Given the description of an element on the screen output the (x, y) to click on. 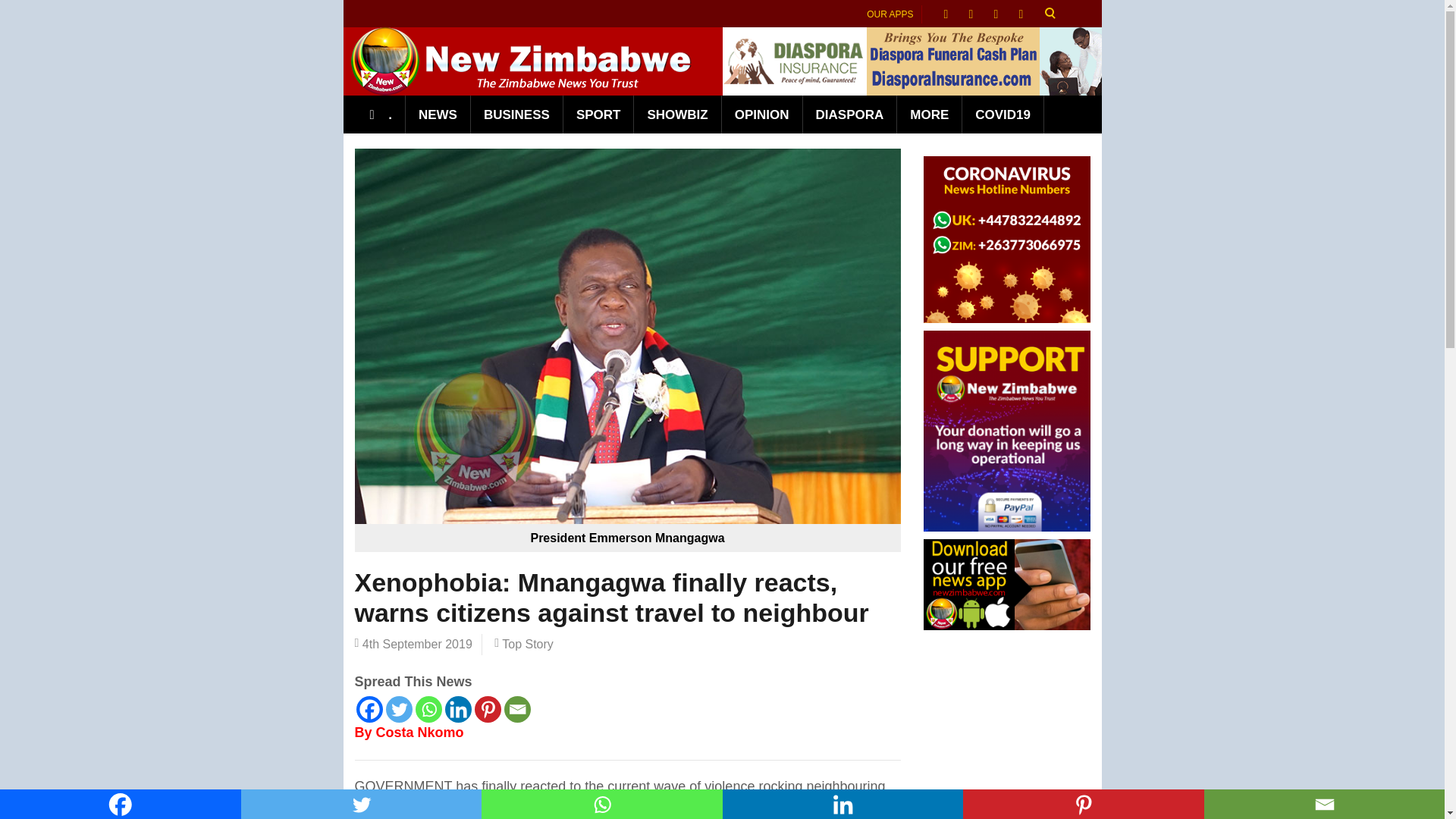
Whatsapp (601, 804)
NEWS (438, 114)
Linkedin (842, 804)
Twitter (361, 804)
 . (380, 114)
SHOWBIZ (676, 114)
OUR APPS (890, 13)
SPORT (598, 114)
Whatsapp (428, 709)
BUSINESS (516, 114)
